Given the description of an element on the screen output the (x, y) to click on. 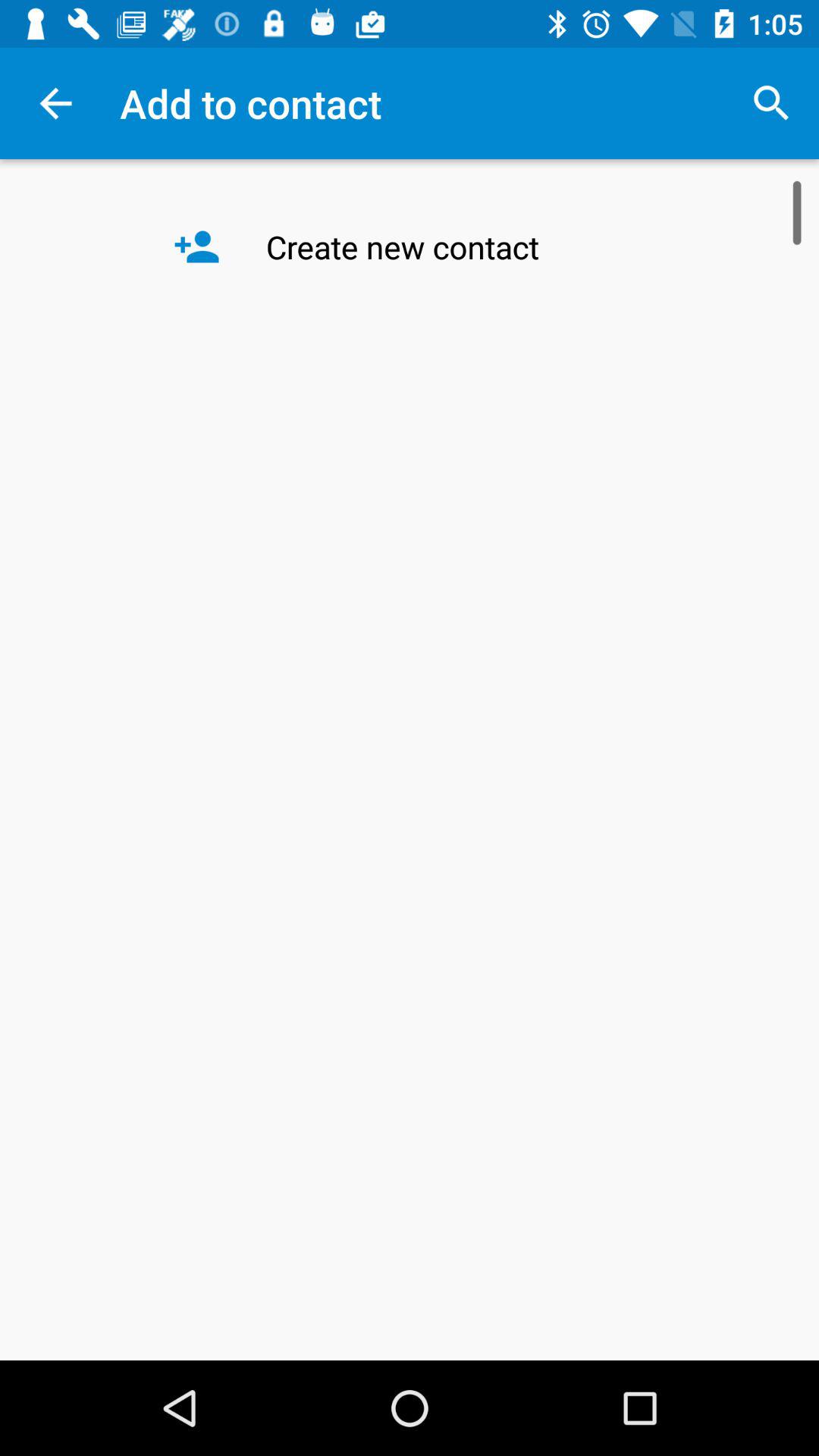
turn off the icon at the top right corner (771, 103)
